Given the description of an element on the screen output the (x, y) to click on. 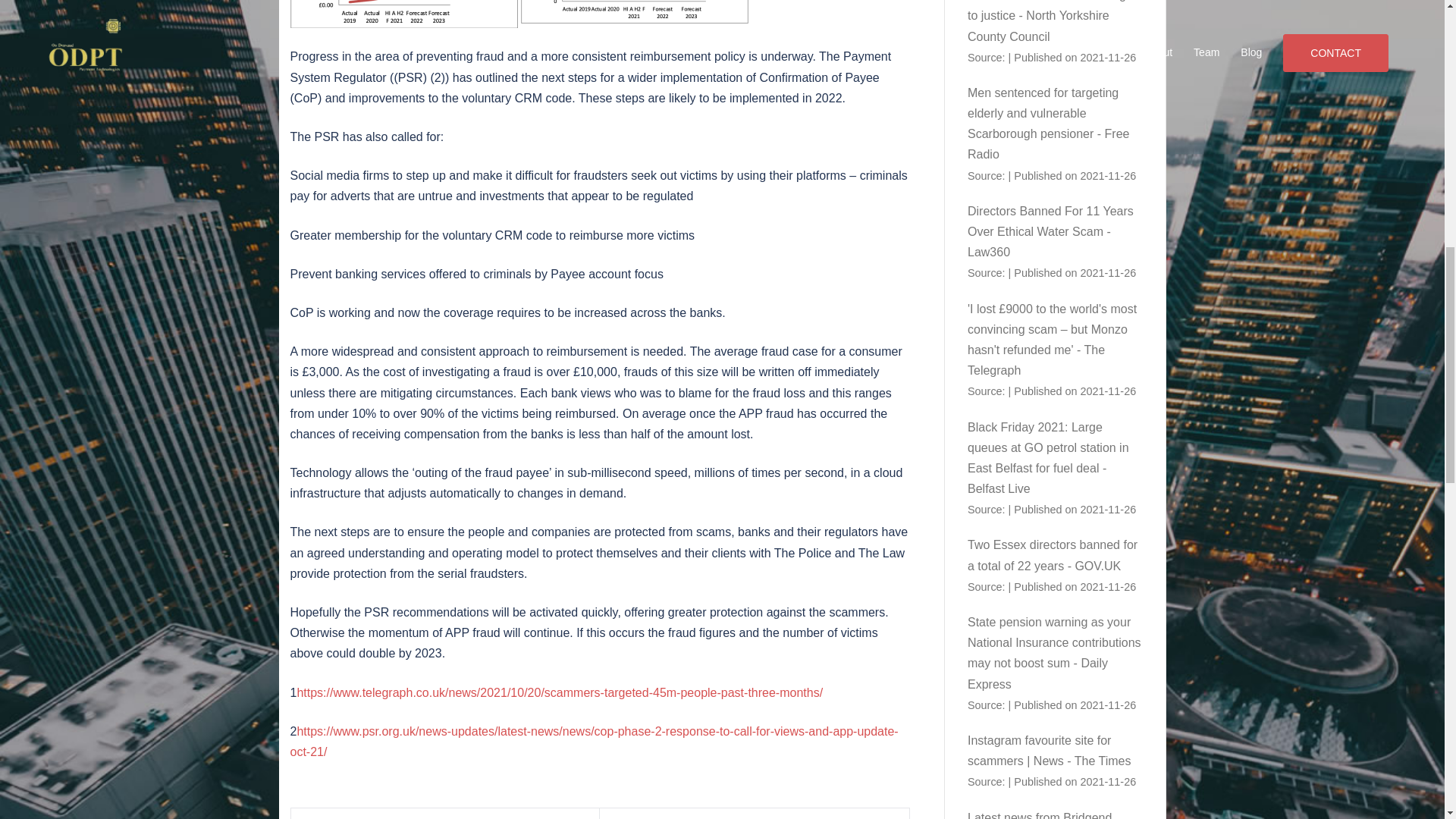
Latest news from Bridgend County Borough - News from Wales (1046, 815)
Two Essex directors banned for a total of 22 years - GOV.UK (1052, 554)
